Given the description of an element on the screen output the (x, y) to click on. 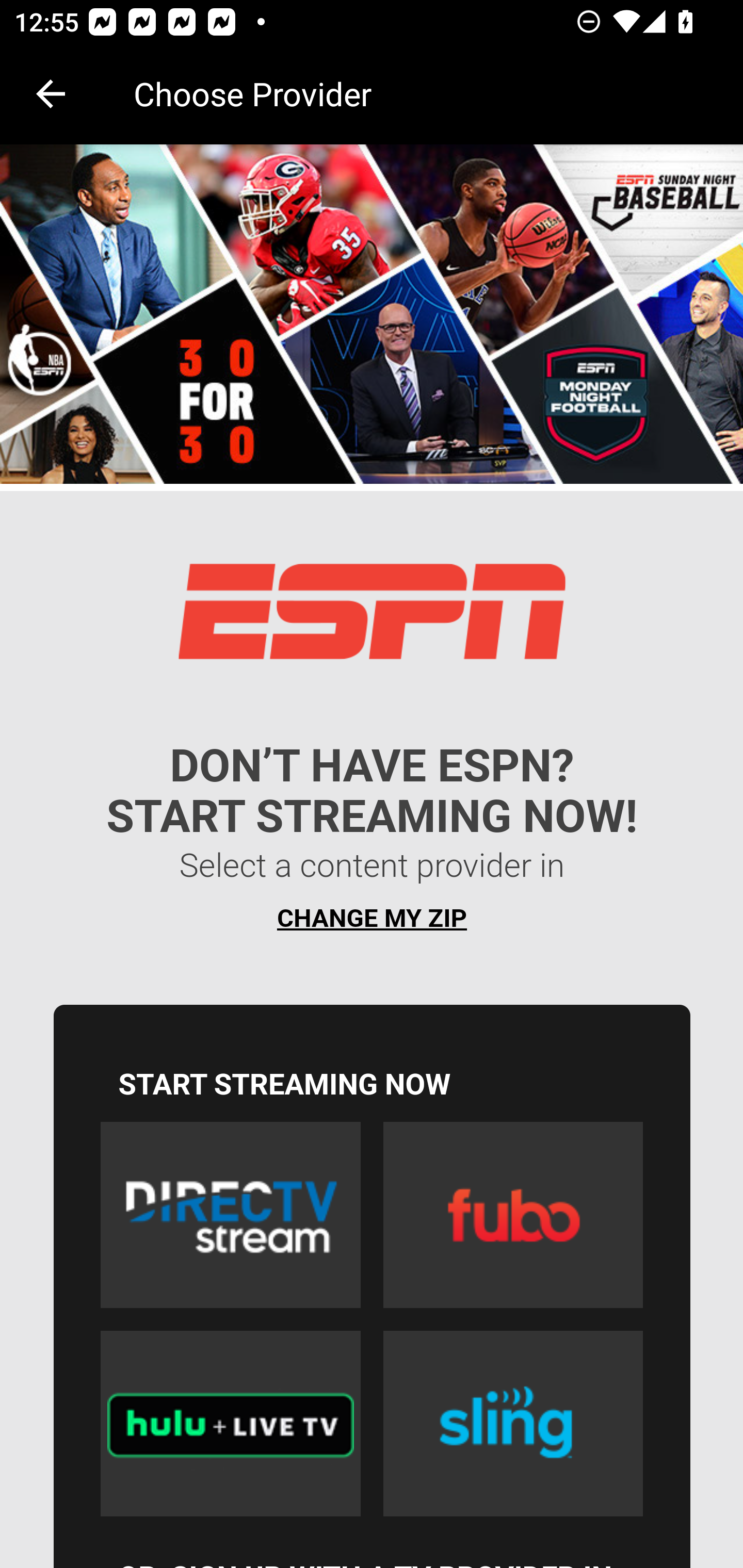
Navigate up (50, 93)
javascript:__doPostBack('lnkCurrentZip','') (372, 867)
CHANGE MY ZIP (371, 917)
DIRECTV Stream (230, 1215)
Fubo TV (513, 1215)
Hulu (230, 1422)
Sling (513, 1422)
